Given the description of an element on the screen output the (x, y) to click on. 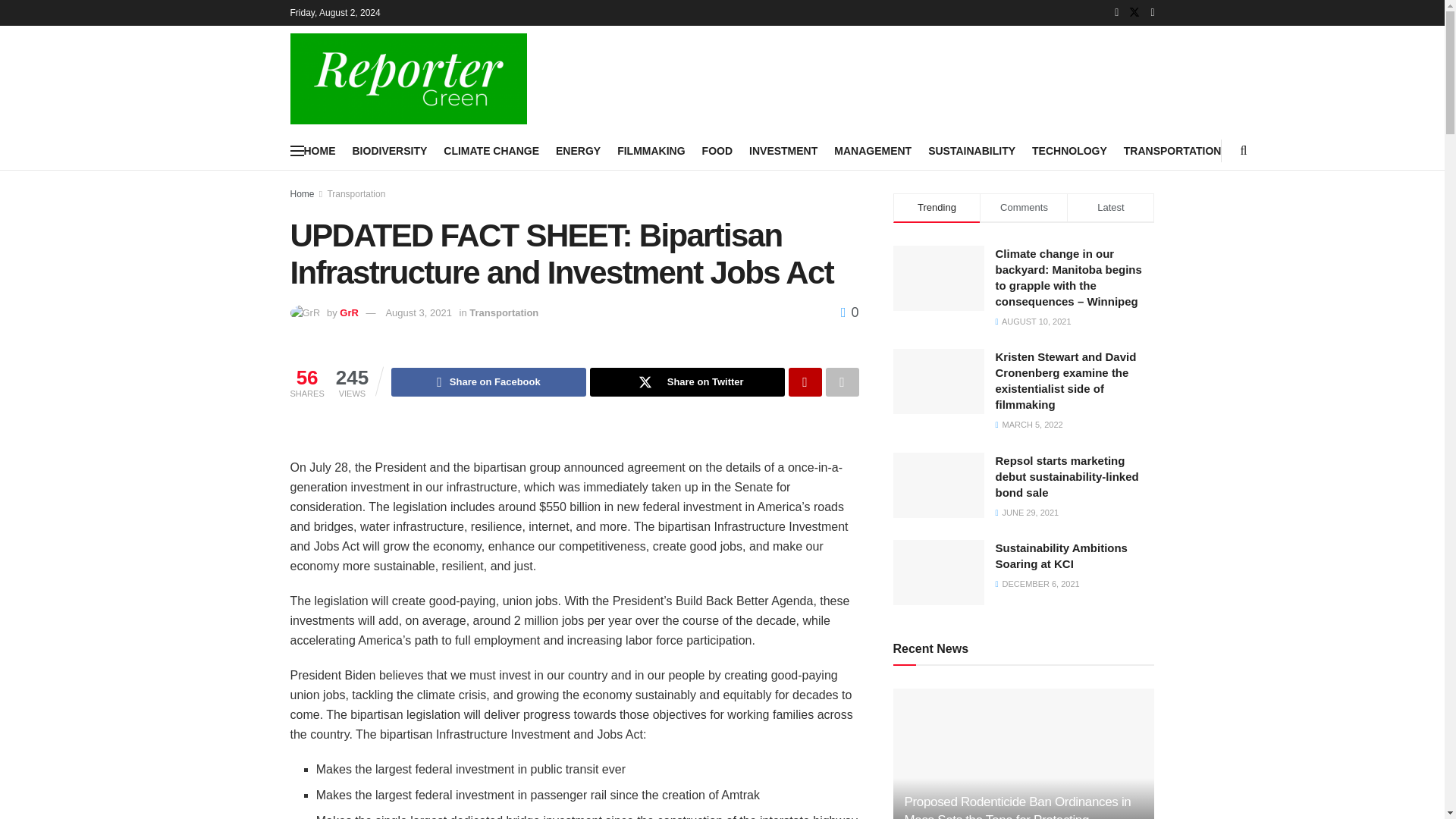
TECHNOLOGY (1069, 150)
HOME (318, 150)
BIODIVERSITY (389, 150)
FOOD (716, 150)
MANAGEMENT (872, 150)
SUSTAINABILITY (971, 150)
ENERGY (577, 150)
August 3, 2021 (418, 312)
GrR (348, 312)
CLIMATE CHANGE (491, 150)
TRANSPORTATION (1172, 150)
FILMMAKING (650, 150)
INVESTMENT (782, 150)
Transportation (355, 194)
Home (301, 194)
